Given the description of an element on the screen output the (x, y) to click on. 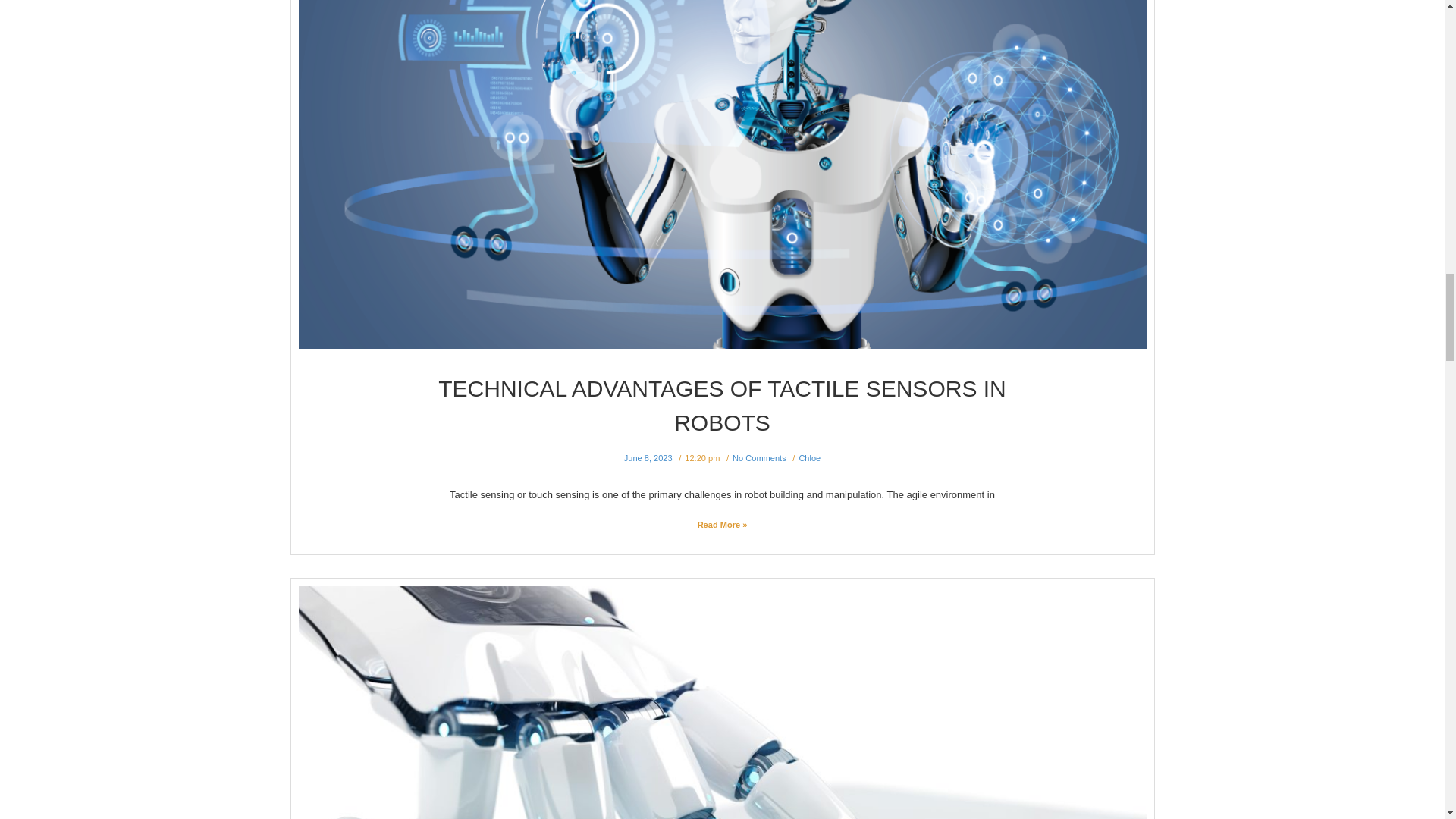
TECHNICAL ADVANTAGES OF TACTILE SENSORS IN ROBOTS (722, 404)
Chloe (809, 457)
No Comments (759, 457)
June 8, 2023 (648, 457)
